Given the description of an element on the screen output the (x, y) to click on. 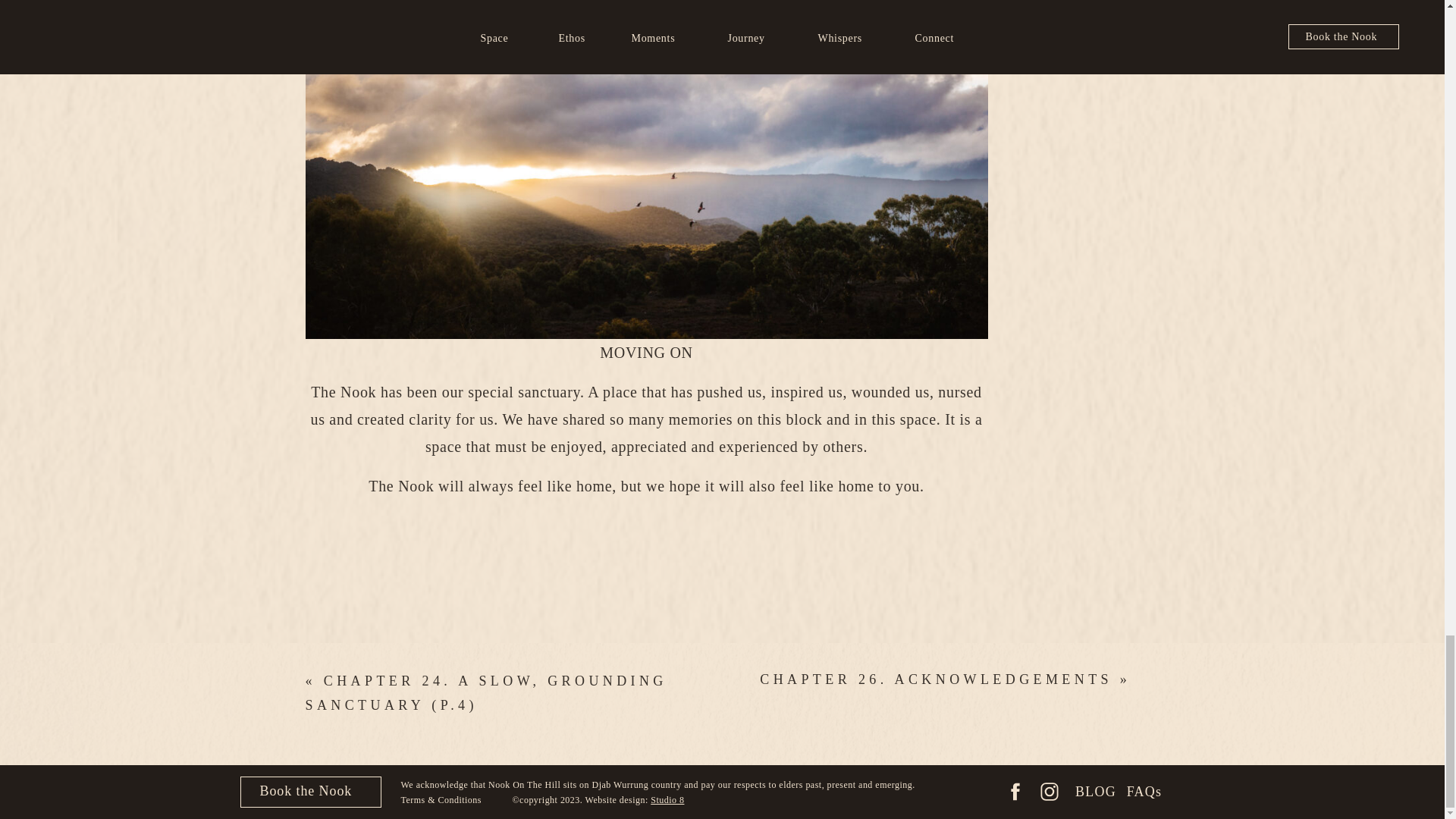
FAQs (1145, 791)
Studio 8 (667, 799)
Book the Nook (310, 790)
BLOG (1095, 791)
CHAPTER 26. ACKNOWLEDGEMENTS (936, 679)
